Given the description of an element on the screen output the (x, y) to click on. 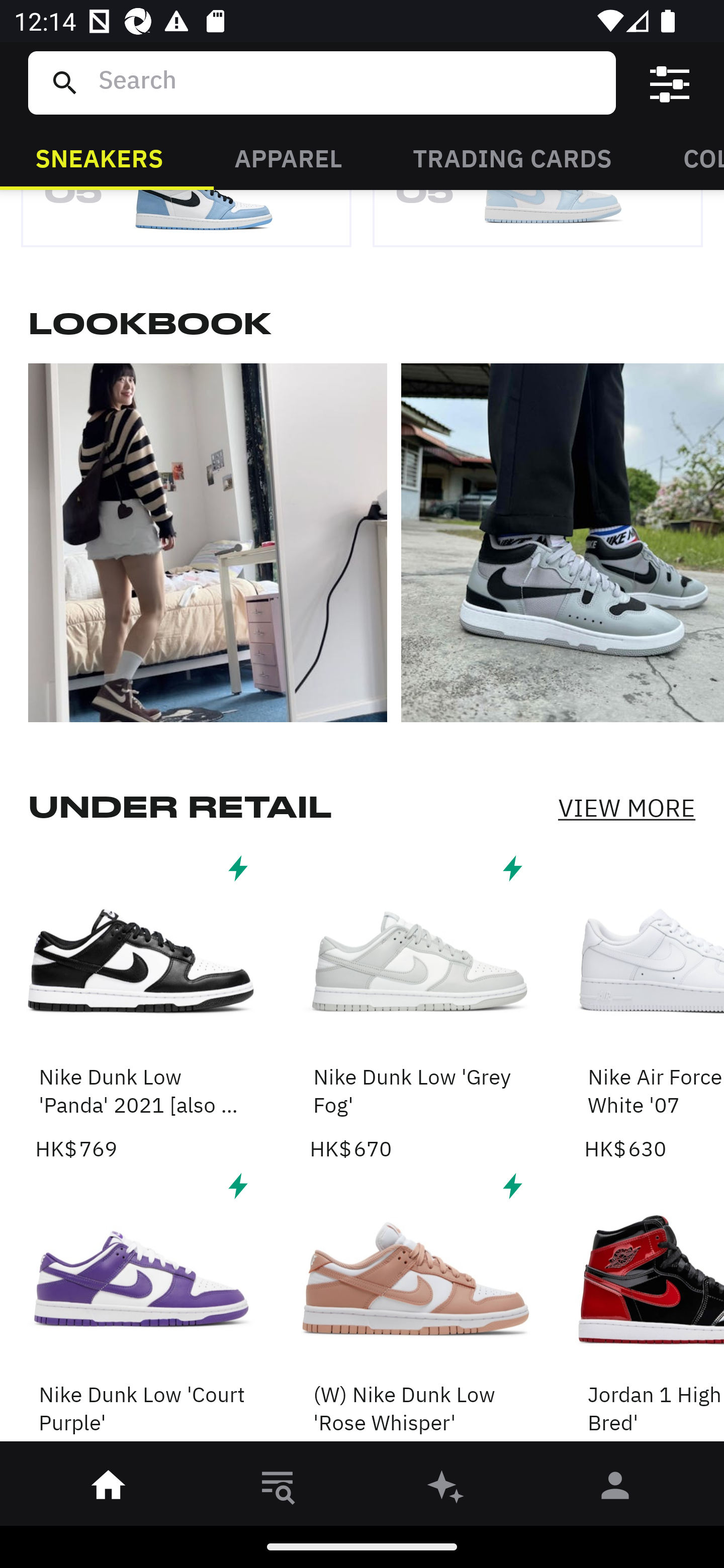
Search (349, 82)
 (669, 82)
SNEAKERS (99, 156)
APPAREL (287, 156)
TRADING CARDS (512, 156)
VIEW MORE (626, 807)
 Nike Dunk Low 'Grey Fog' HK$ 670 (414, 1006)
Nike Air Force 1 Low White '07 HK$ 630 (654, 1006)
 Nike Dunk Low 'Court Purple' HK$ 599 (140, 1308)
 (W) Nike Dunk Low 'Rose Whisper' HK$ 743 (414, 1308)
Jordan 1 High 'Patent Bred' HK$ 1,365 (654, 1308)
󰋜 (108, 1488)
󱎸 (277, 1488)
󰫢 (446, 1488)
󰀄 (615, 1488)
